Given the description of an element on the screen output the (x, y) to click on. 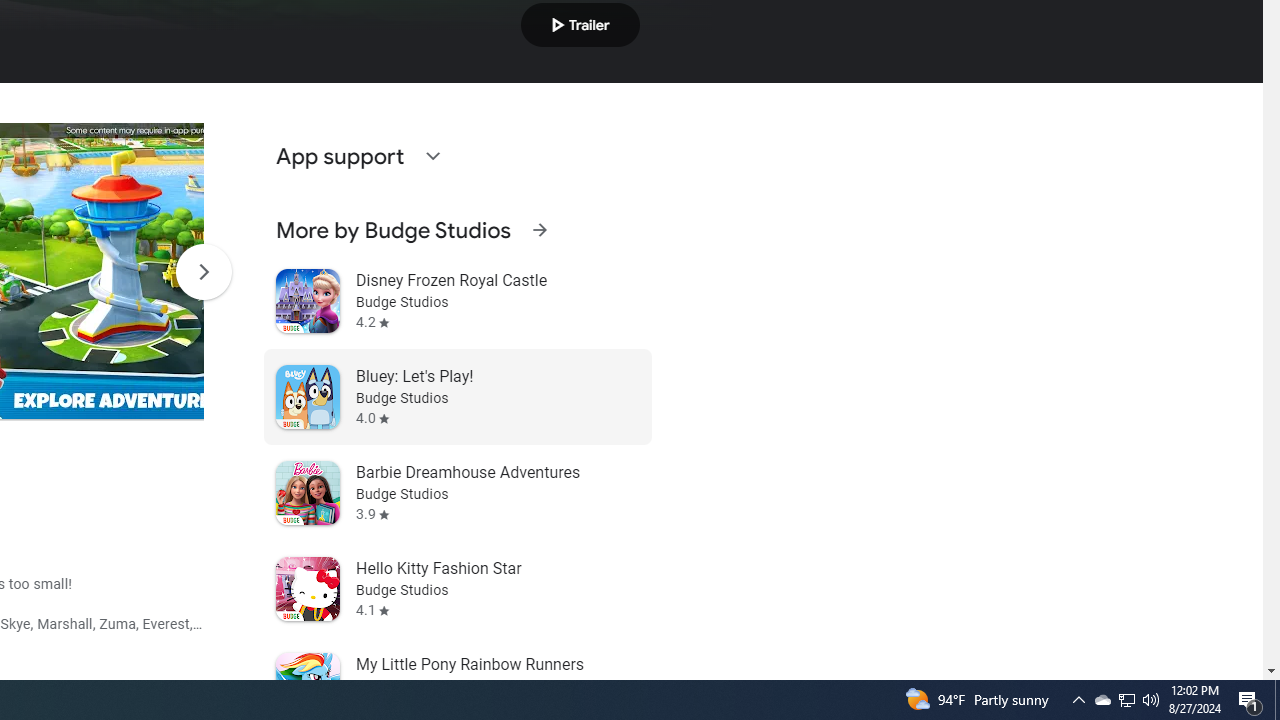
Expand (432, 155)
Play trailer (580, 24)
Scroll Next (203, 272)
See more information on More by Budge Studios (539, 229)
